Given the description of an element on the screen output the (x, y) to click on. 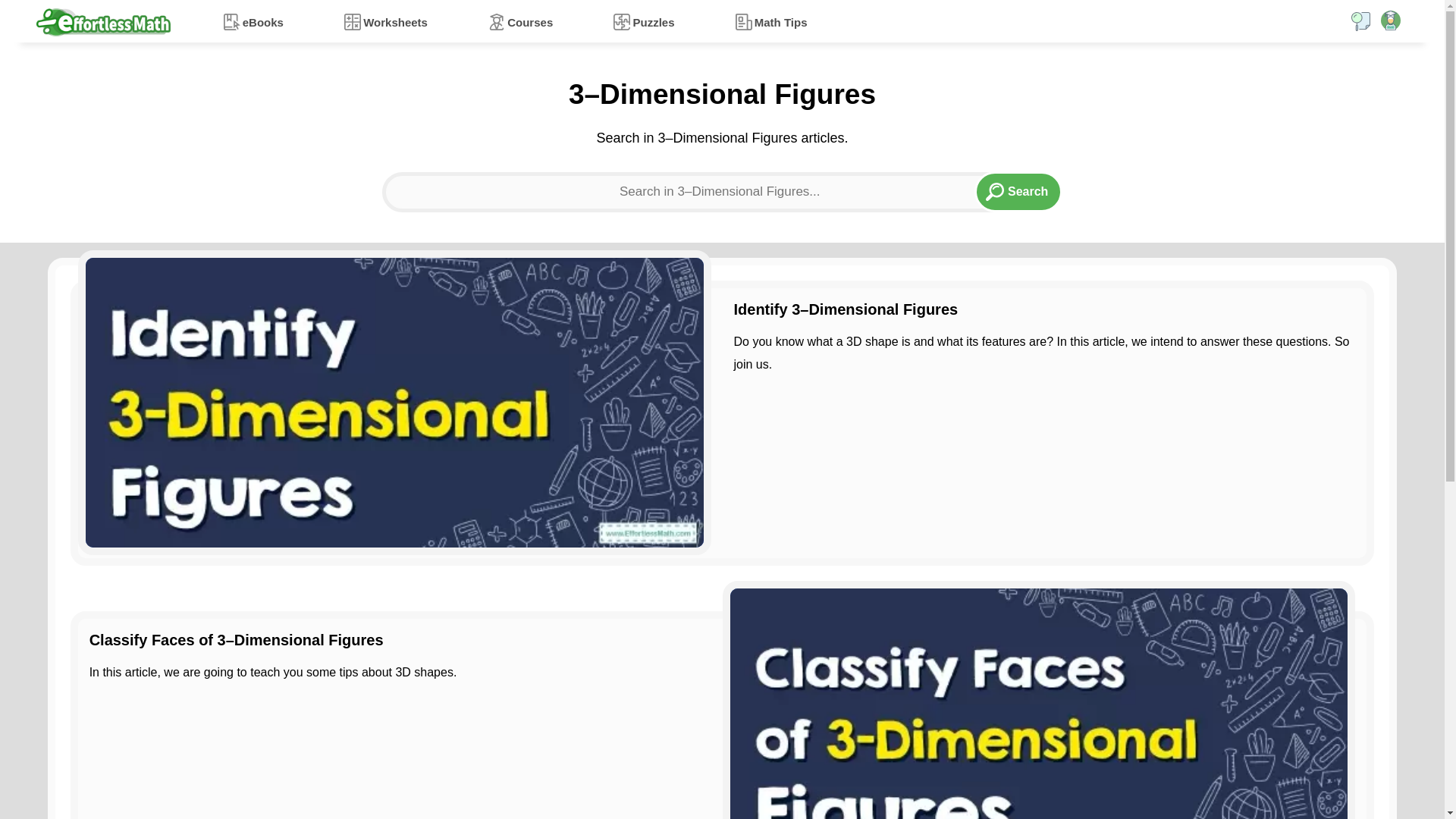
Worksheets (385, 21)
eBooks (253, 21)
Effortless Math (103, 21)
Search (1018, 191)
